Given the description of an element on the screen output the (x, y) to click on. 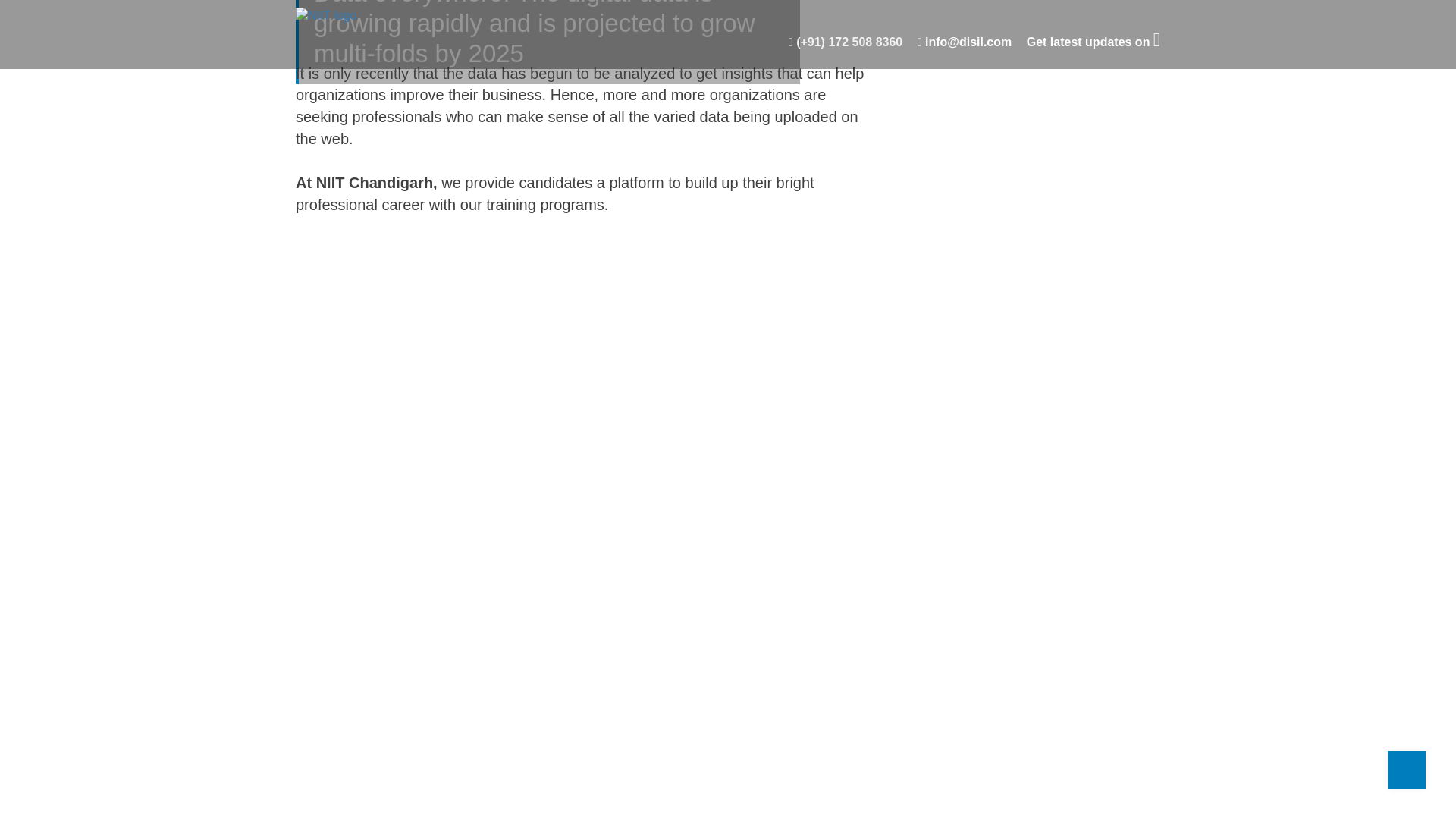
Get latest updates on (1093, 42)
